Given the description of an element on the screen output the (x, y) to click on. 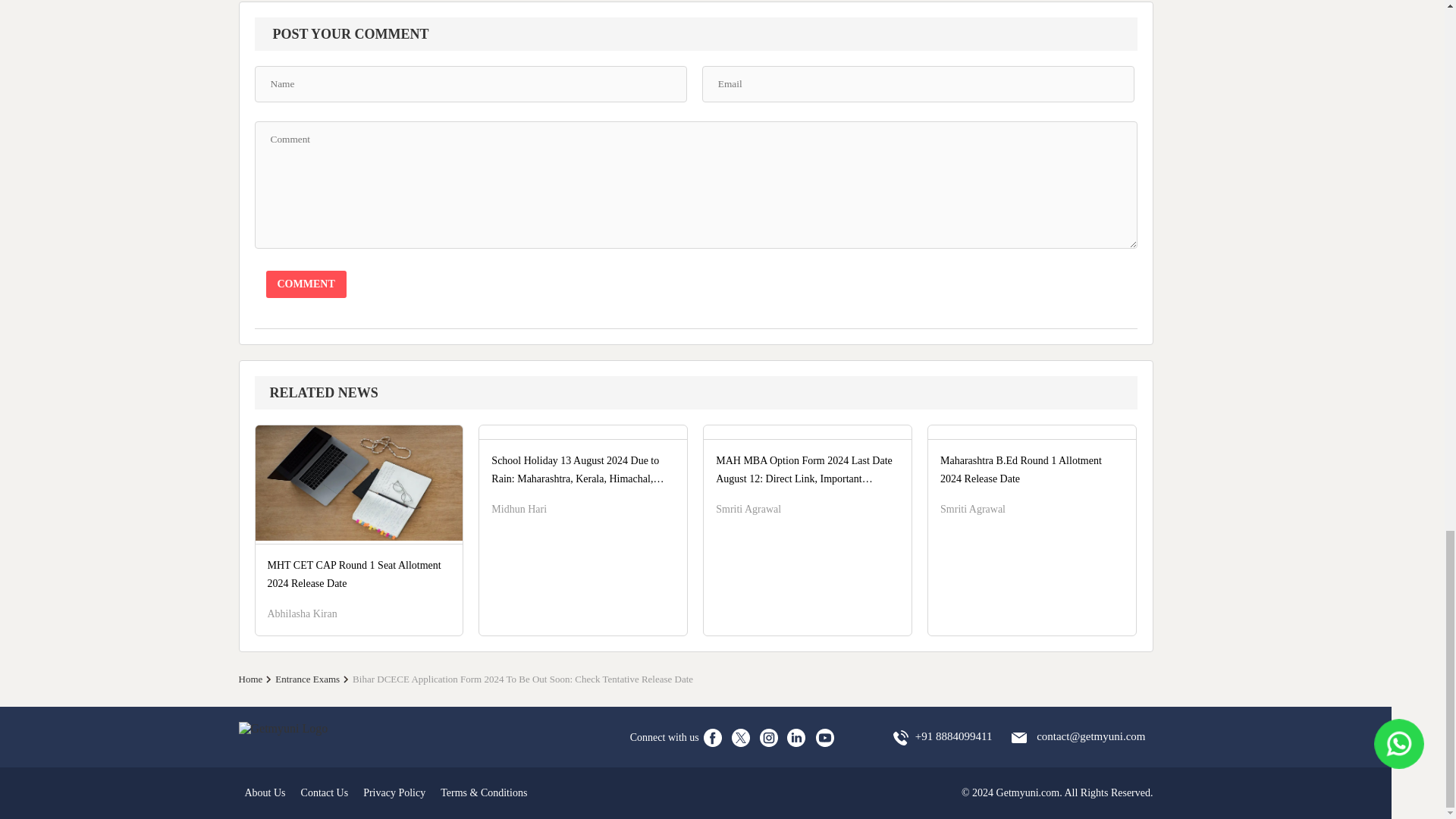
Maharashtra B.Ed Round 1 Allotment 2024 Release Date (1031, 462)
MHT CET CAP Round 1 Seat Allotment 2024 Release Date (358, 515)
COMMENT (305, 284)
